Given the description of an element on the screen output the (x, y) to click on. 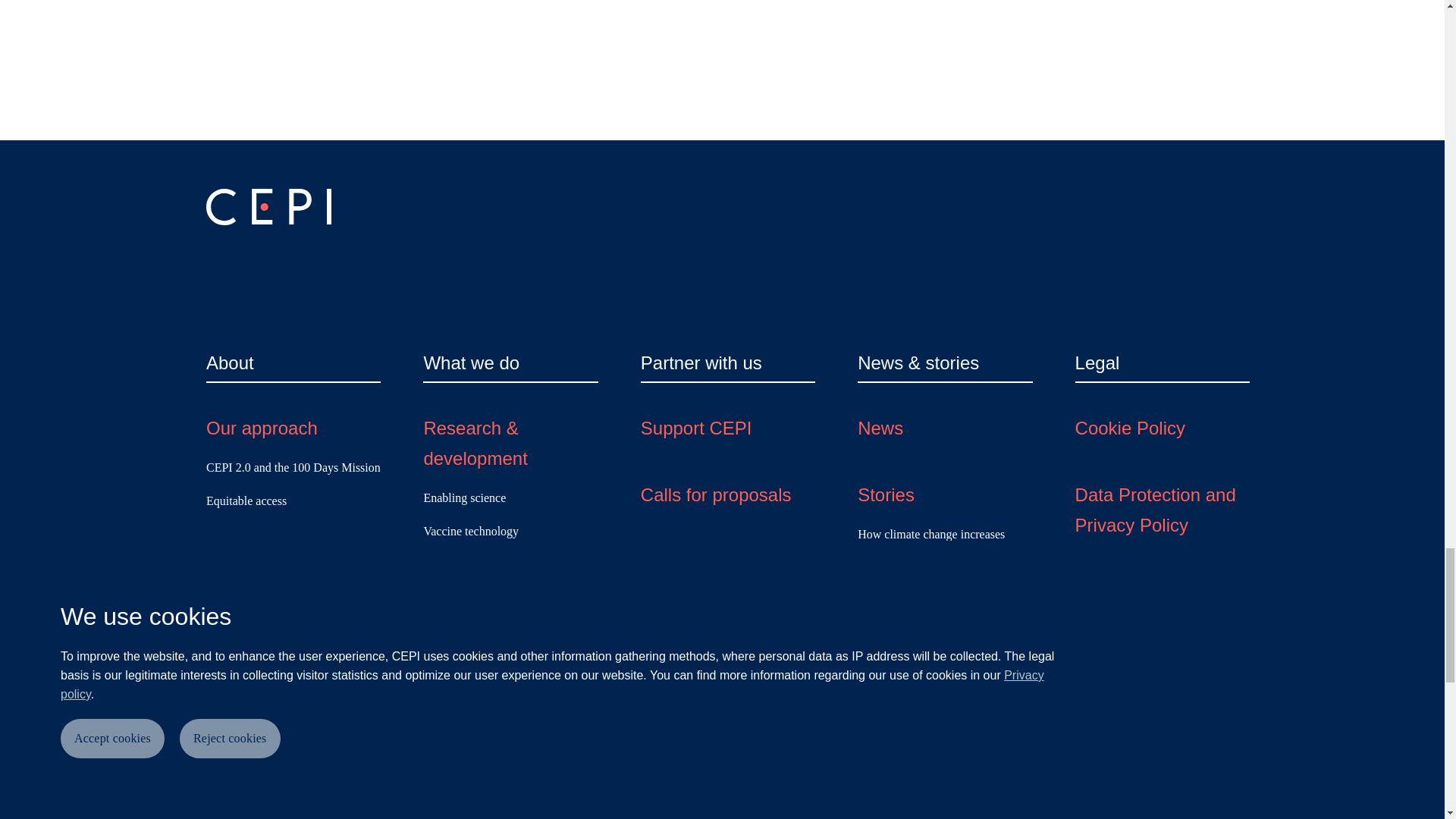
The CEPI team (268, 562)
About (229, 362)
Equitable access (246, 500)
Our approach (261, 428)
Scientific Advisory Committee (281, 700)
Joint Coordination Group (268, 667)
CEPI 2.0 and the 100 Days Mission (293, 467)
Investors (228, 634)
